Given the description of an element on the screen output the (x, y) to click on. 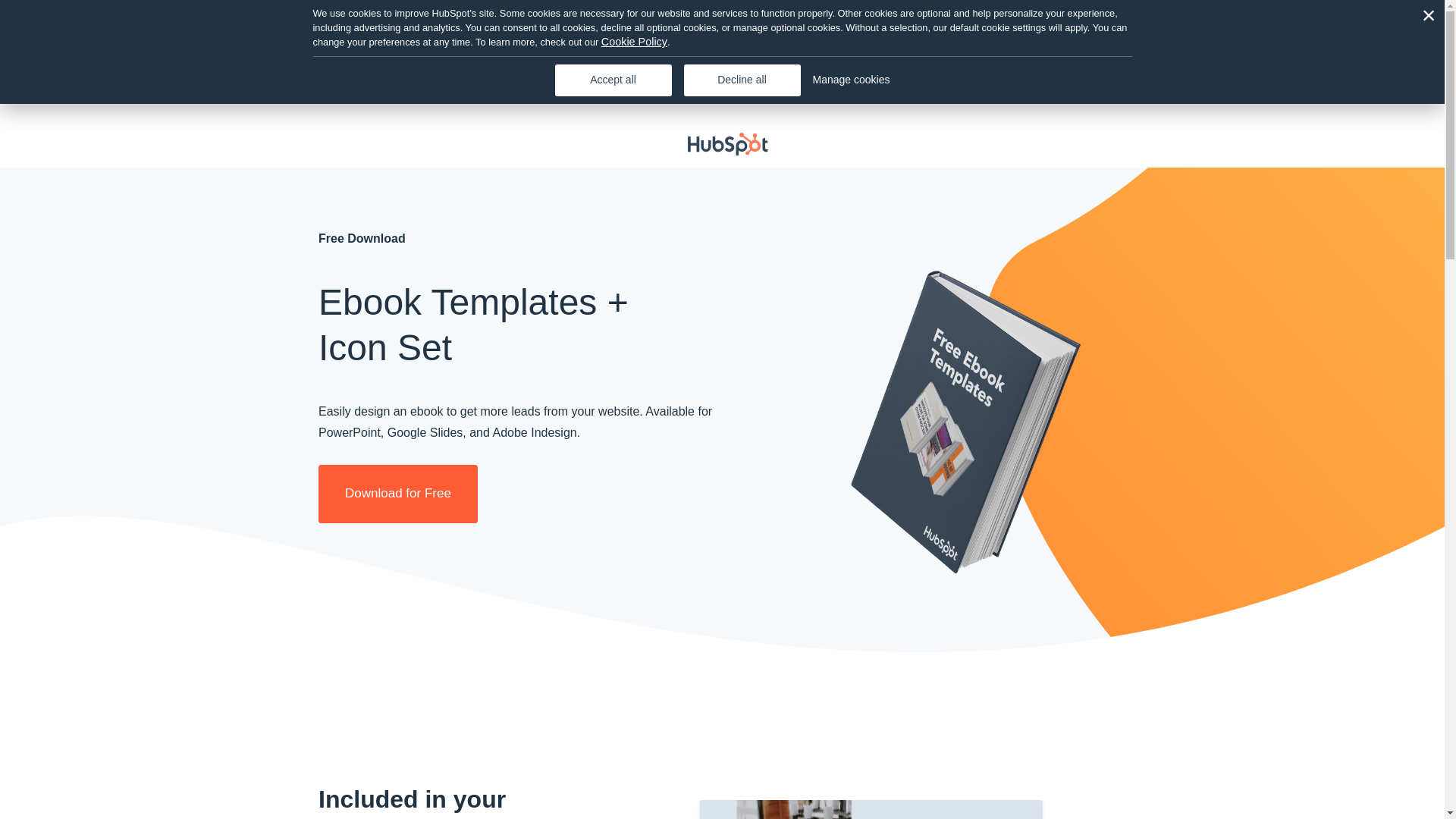
Download for Free (397, 494)
